Given the description of an element on the screen output the (x, y) to click on. 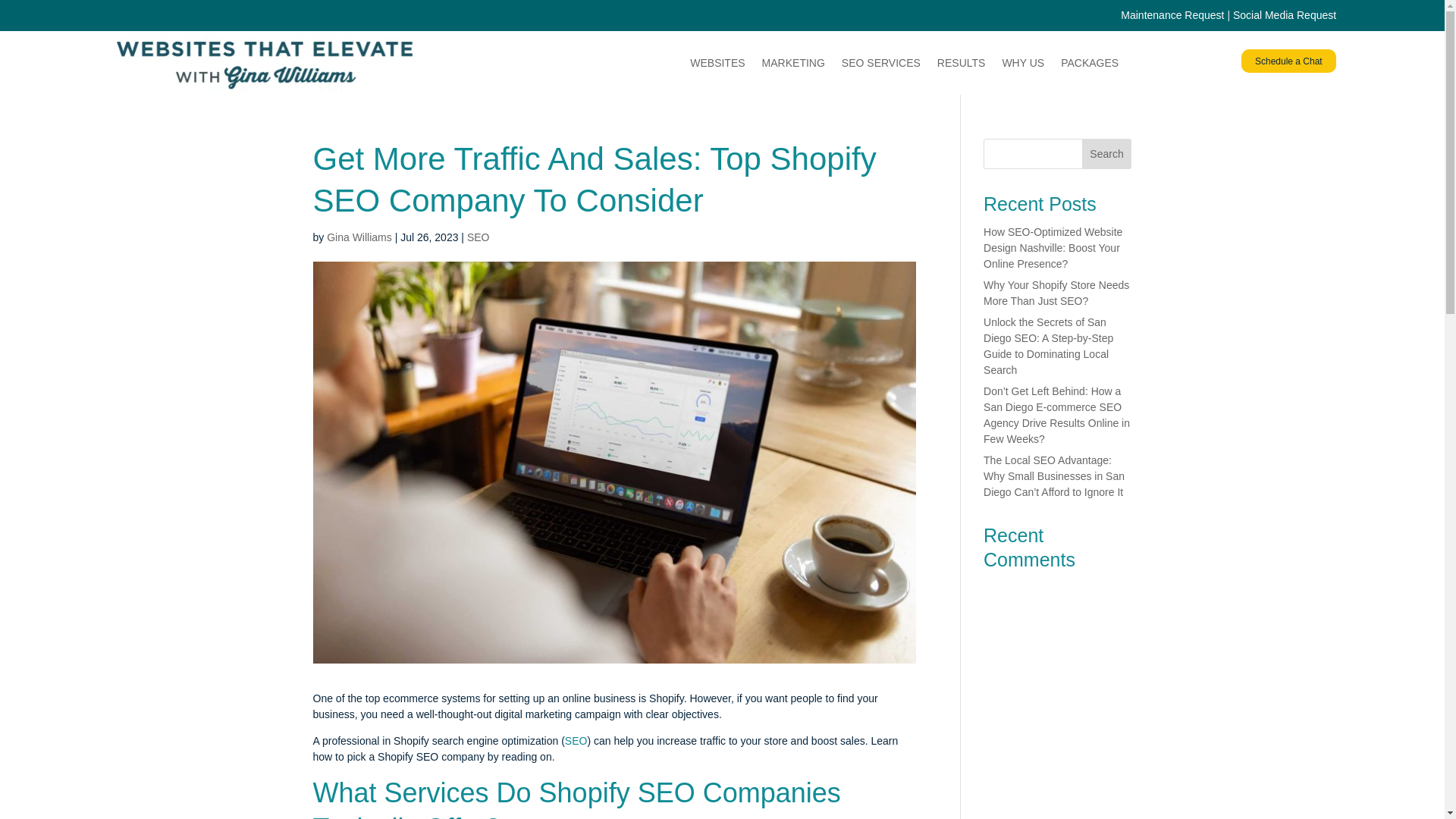
WEBSITES (717, 62)
Search (1106, 153)
Maintenance Request (1172, 15)
Schedule a Chat (1288, 60)
Gina Williams (358, 236)
MARKETING (793, 62)
Why Your Shopify Store Needs More Than Just SEO? (1056, 293)
SEO SERVICES (880, 62)
Search (1106, 153)
